Given the description of an element on the screen output the (x, y) to click on. 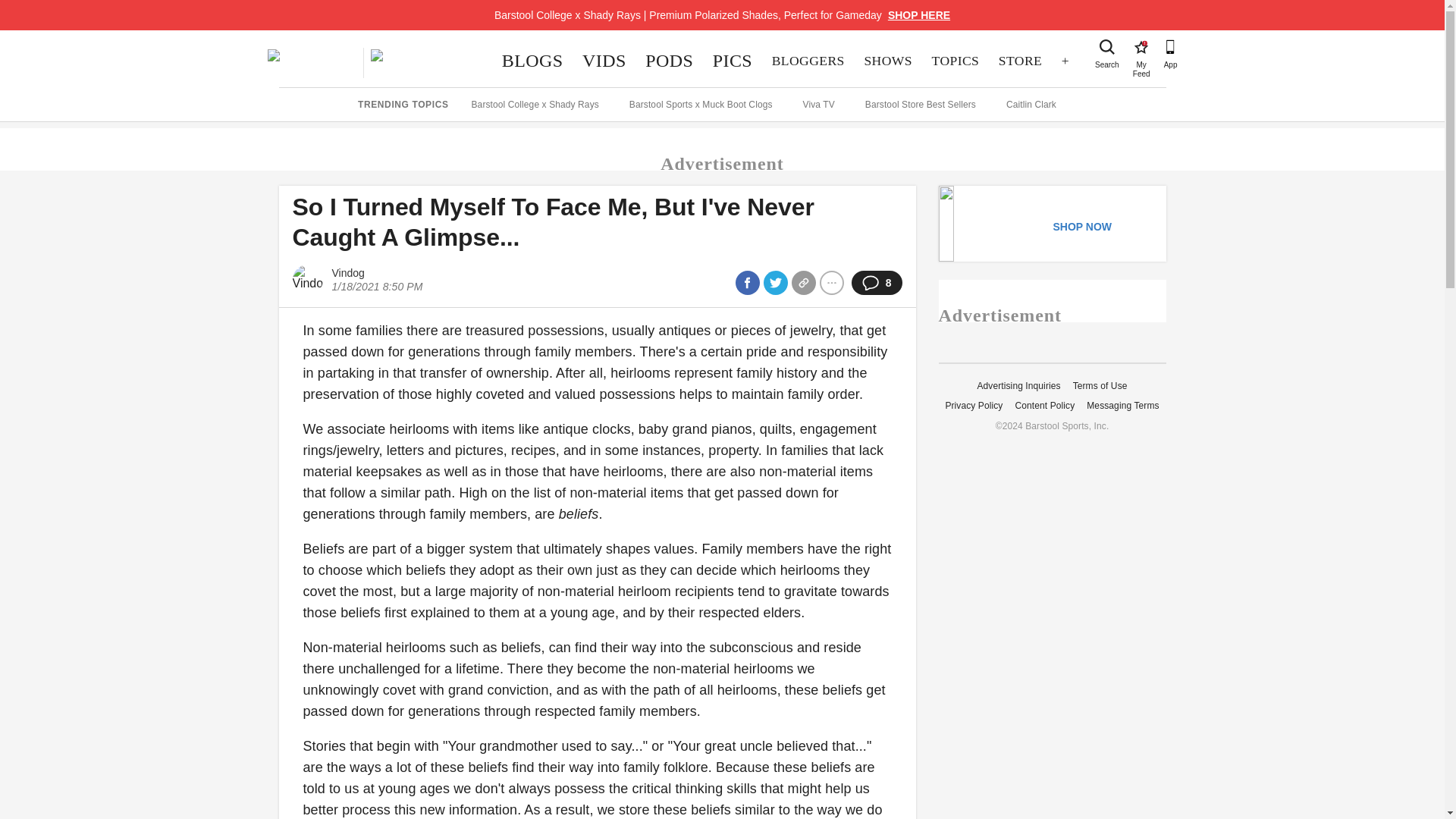
VIDS (603, 60)
BLOGGERS (807, 60)
Search (1107, 46)
STORE (1019, 60)
BLOGS (532, 60)
SHOP HERE (919, 15)
PODS (668, 60)
SHOWS (887, 60)
PICS (732, 60)
TOPICS (954, 60)
